Given the description of an element on the screen output the (x, y) to click on. 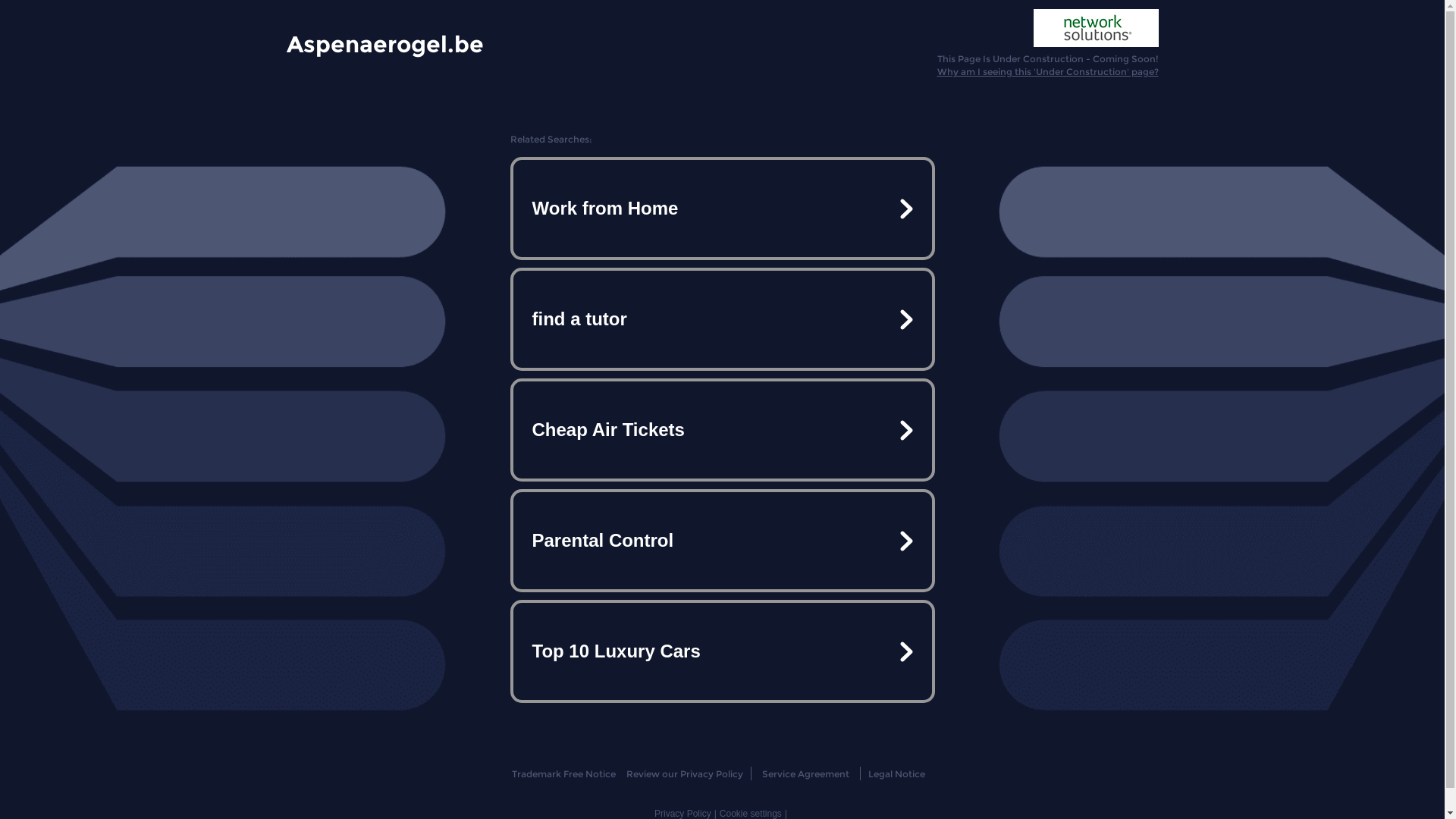
Top 10 Luxury Cars Element type: text (721, 650)
Review our Privacy Policy Element type: text (684, 773)
Work from Home Element type: text (721, 208)
find a tutor Element type: text (721, 318)
Legal Notice Element type: text (896, 773)
Why am I seeing this 'Under Construction' page? Element type: text (1047, 71)
Aspenaerogel.be Element type: text (384, 43)
Service Agreement Element type: text (805, 773)
Trademark Free Notice Element type: text (563, 773)
Parental Control Element type: text (721, 540)
Cheap Air Tickets Element type: text (721, 429)
